Given the description of an element on the screen output the (x, y) to click on. 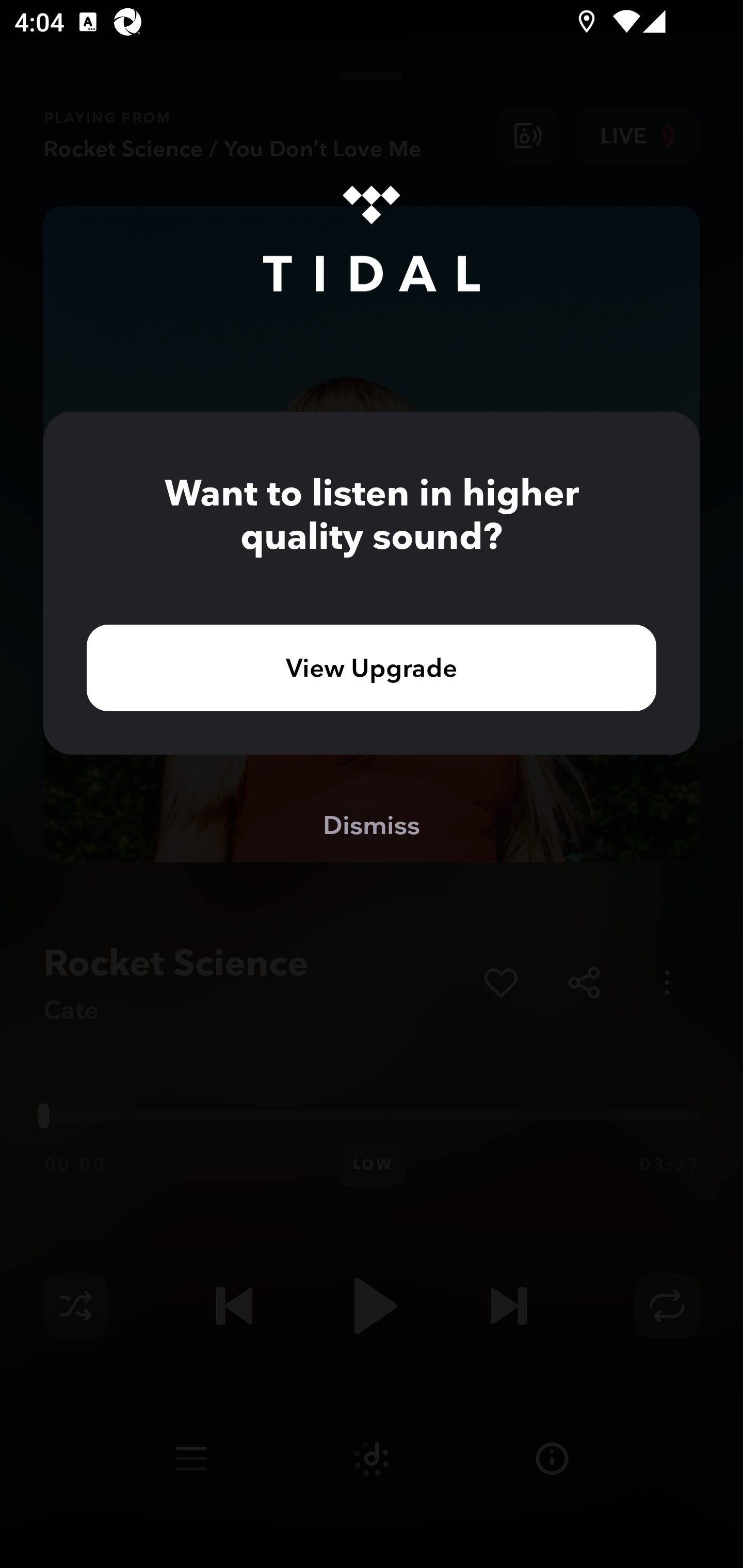
View Upgrade (371, 667)
Dismiss (371, 824)
